Given the description of an element on the screen output the (x, y) to click on. 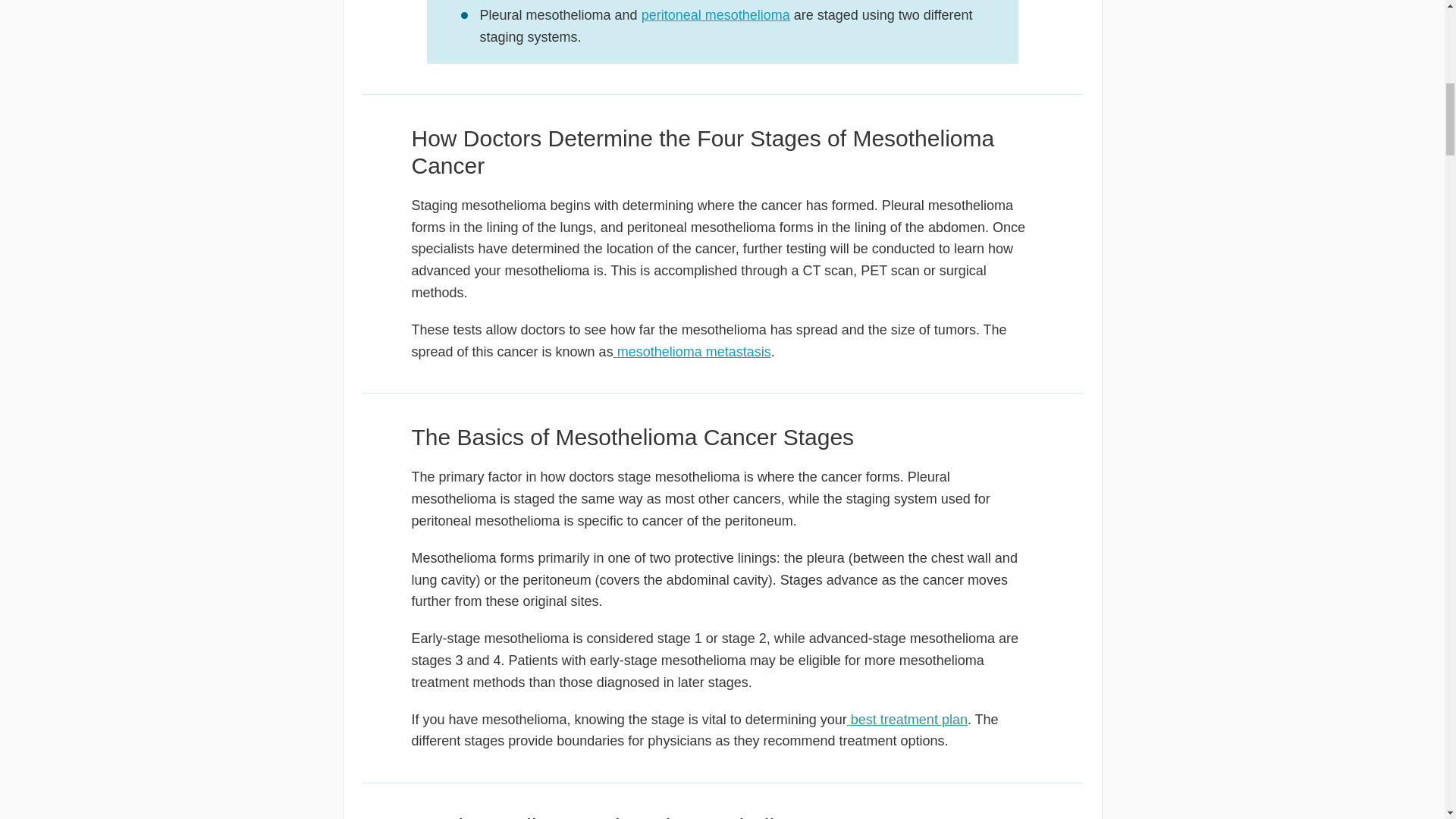
peritoneal mesothelioma staging (716, 14)
